Given the description of an element on the screen output the (x, y) to click on. 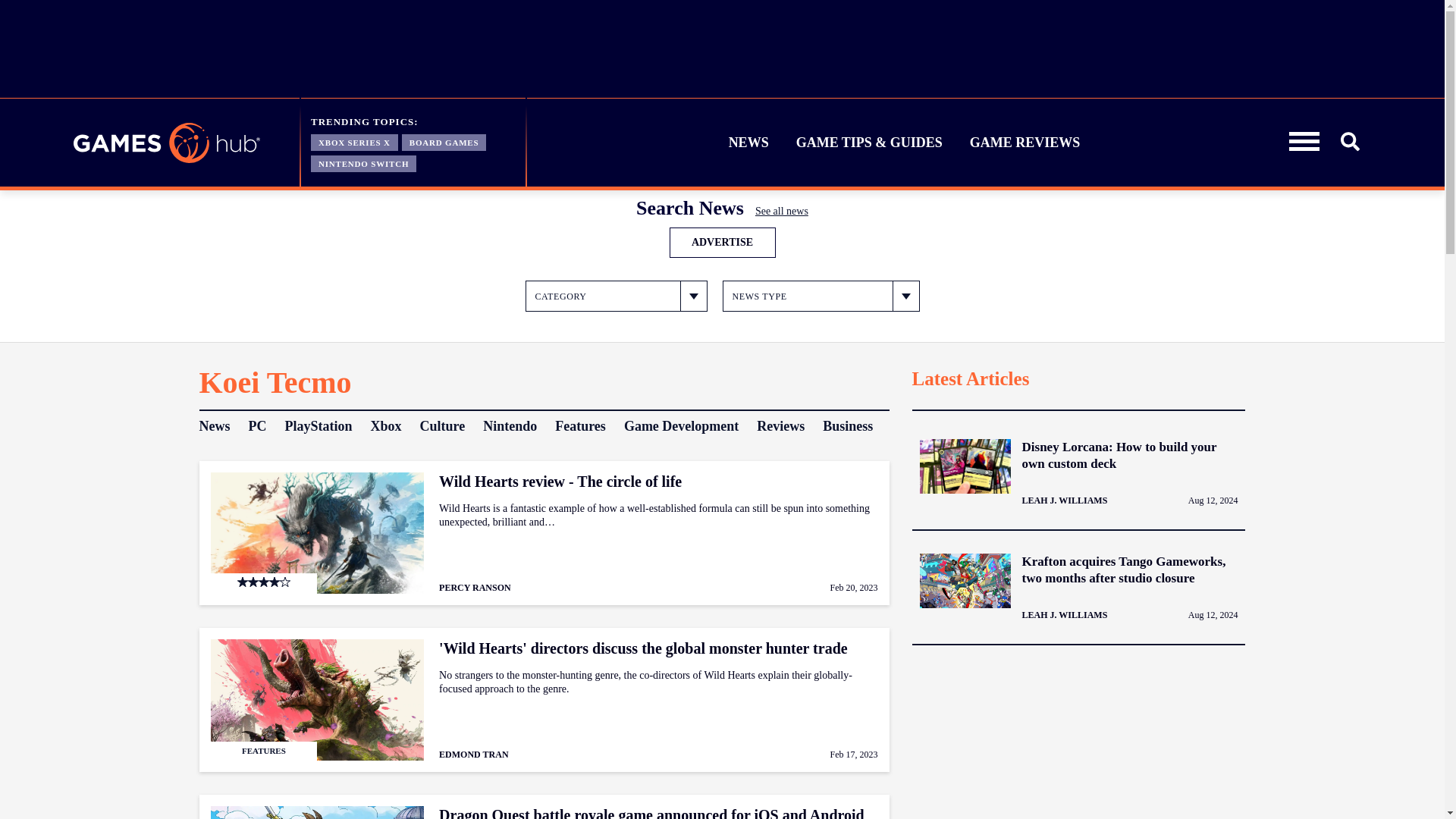
GAME REVIEWS (1025, 142)
NEWS (748, 142)
XBOX SERIES X (354, 141)
NINTENDO SWITCH (363, 162)
BOARD GAMES (443, 141)
